Given the description of an element on the screen output the (x, y) to click on. 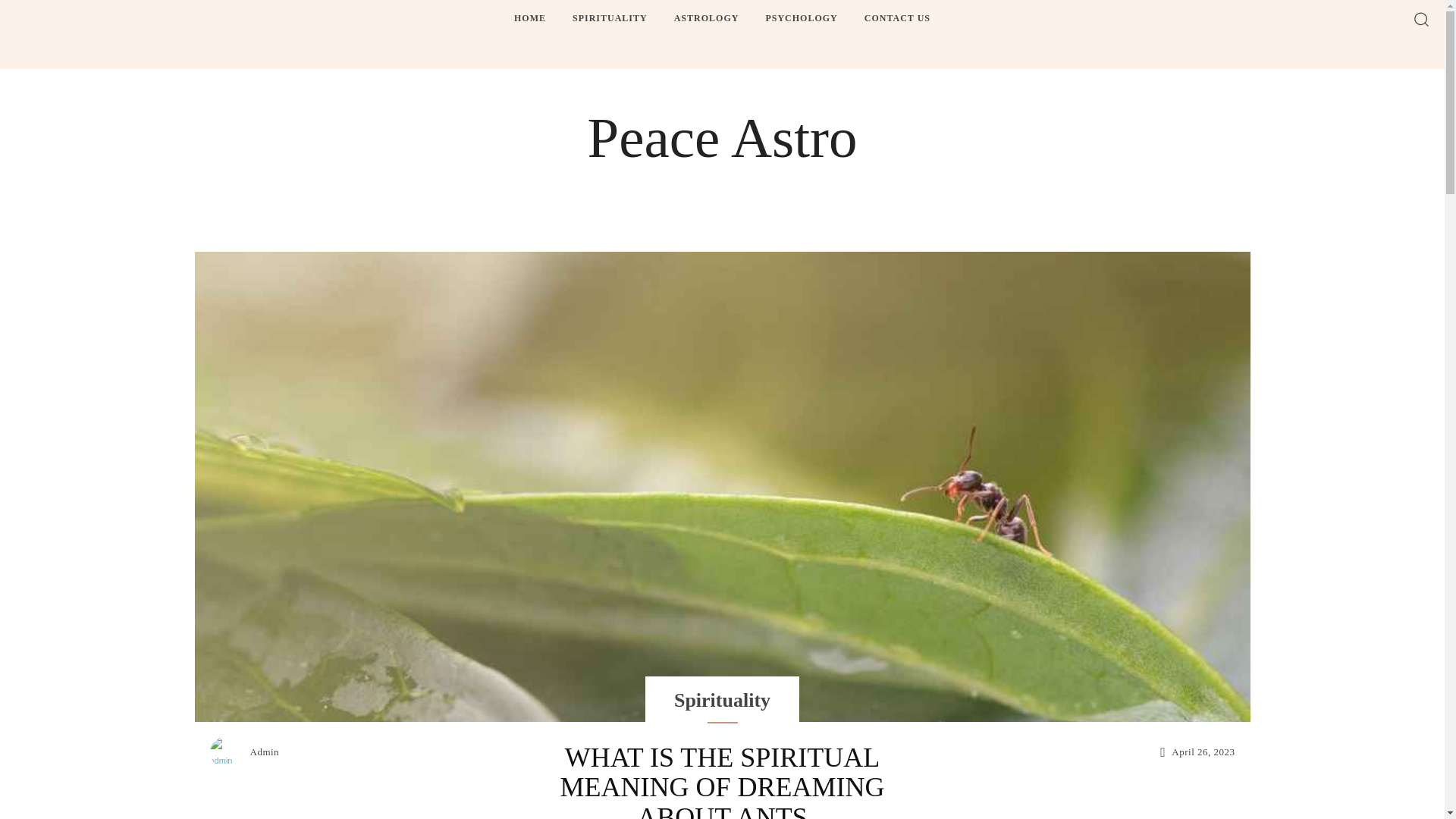
PSYCHOLOGY (800, 18)
HOME (529, 18)
Admin (264, 752)
SPIRITUALITY (609, 18)
ASTROLOGY (706, 18)
CONTACT US (897, 18)
admin (228, 752)
Spirituality (722, 700)
